Given the description of an element on the screen output the (x, y) to click on. 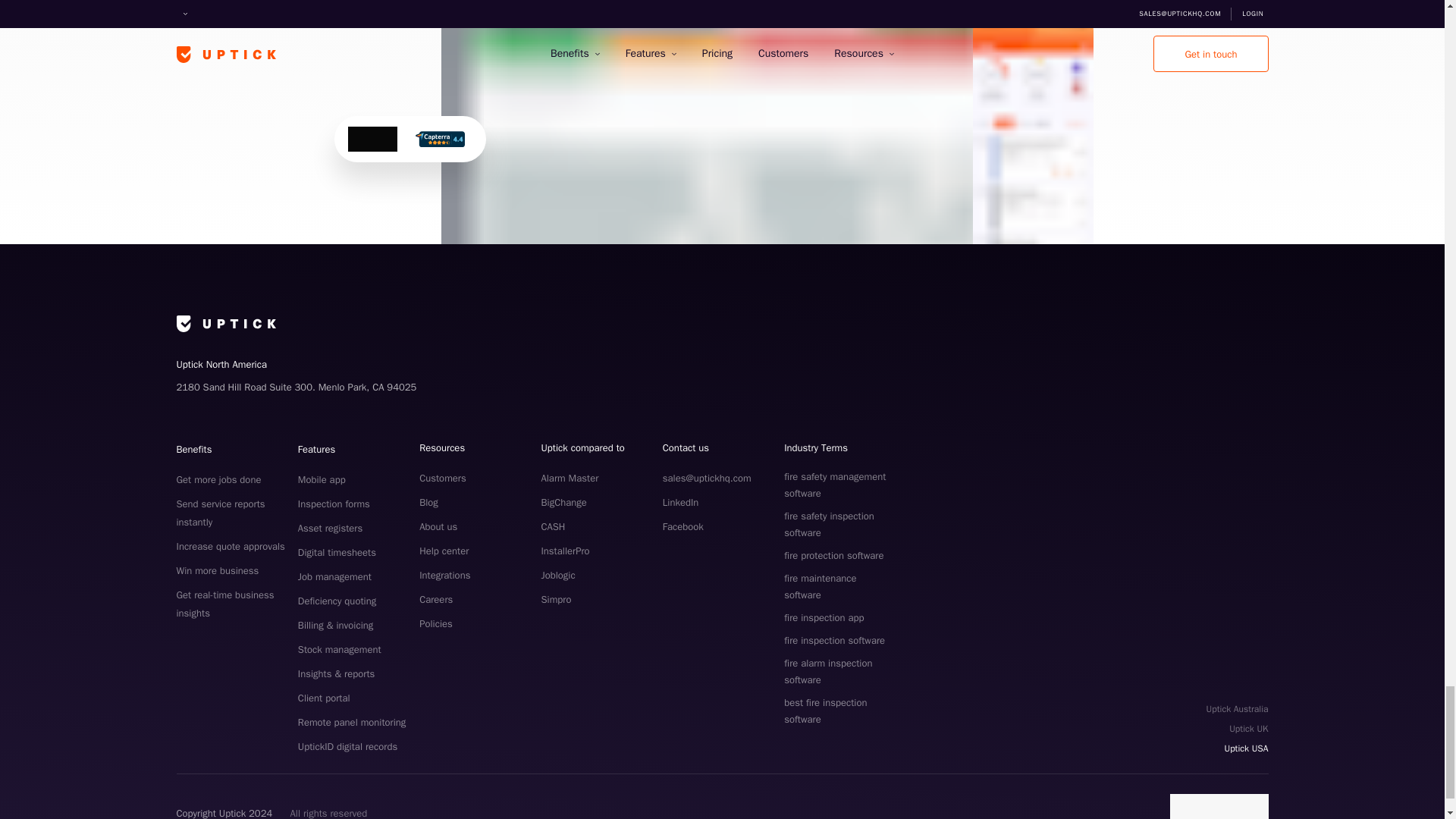
Get real-time business insights (224, 603)
Switch to our Uptick Australia site (1237, 709)
Get more jobs done (218, 479)
Win more business (217, 570)
Increase quote approvals (229, 545)
Features (316, 449)
Switch to our Uptick USA site (1237, 748)
Send service reports instantly (220, 512)
Benefits (193, 449)
Switch to our Uptick UK site (1237, 728)
